Given the description of an element on the screen output the (x, y) to click on. 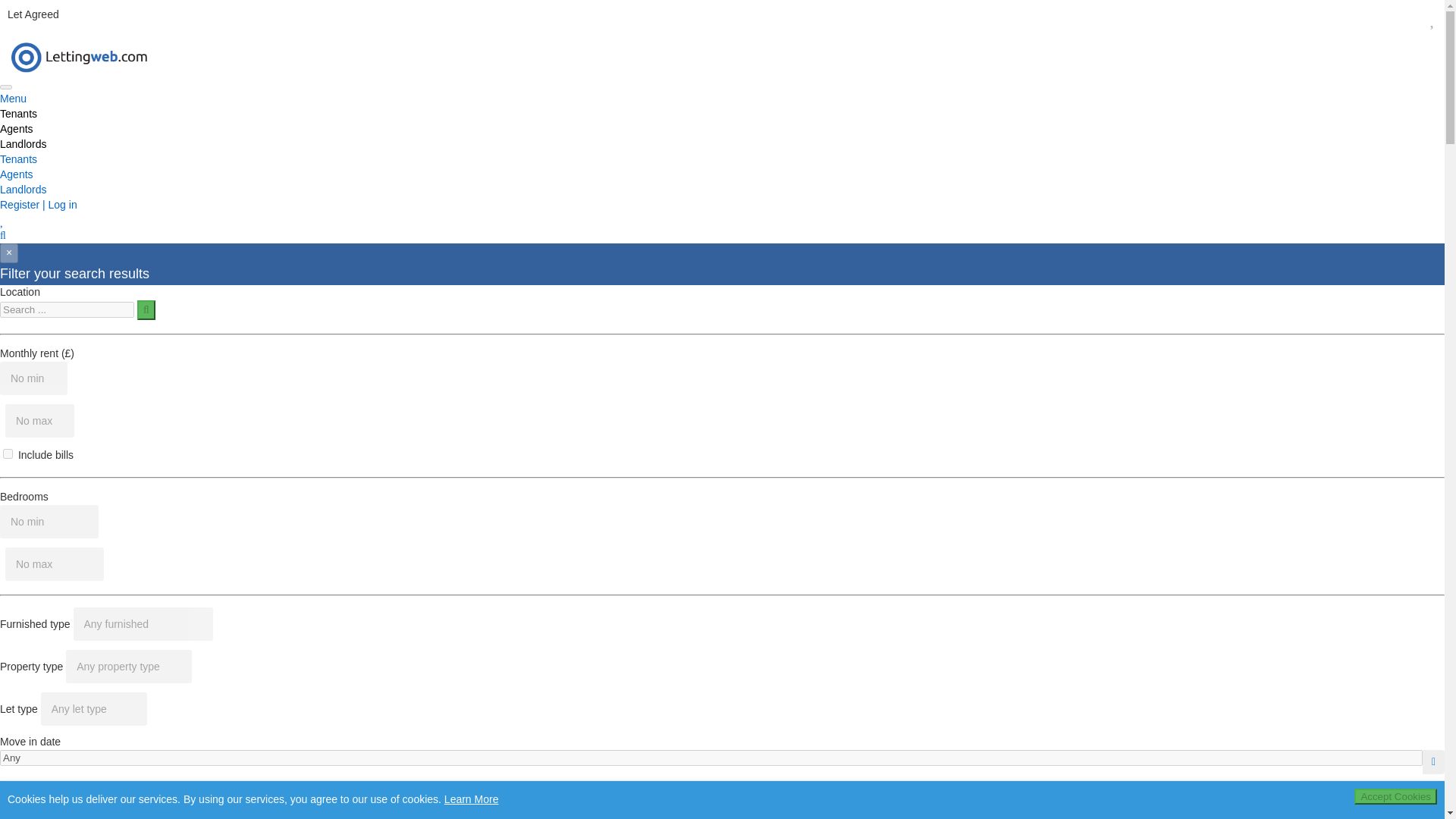
Learn More (471, 799)
Accept Cookies (1395, 796)
true (7, 453)
